Given the description of an element on the screen output the (x, y) to click on. 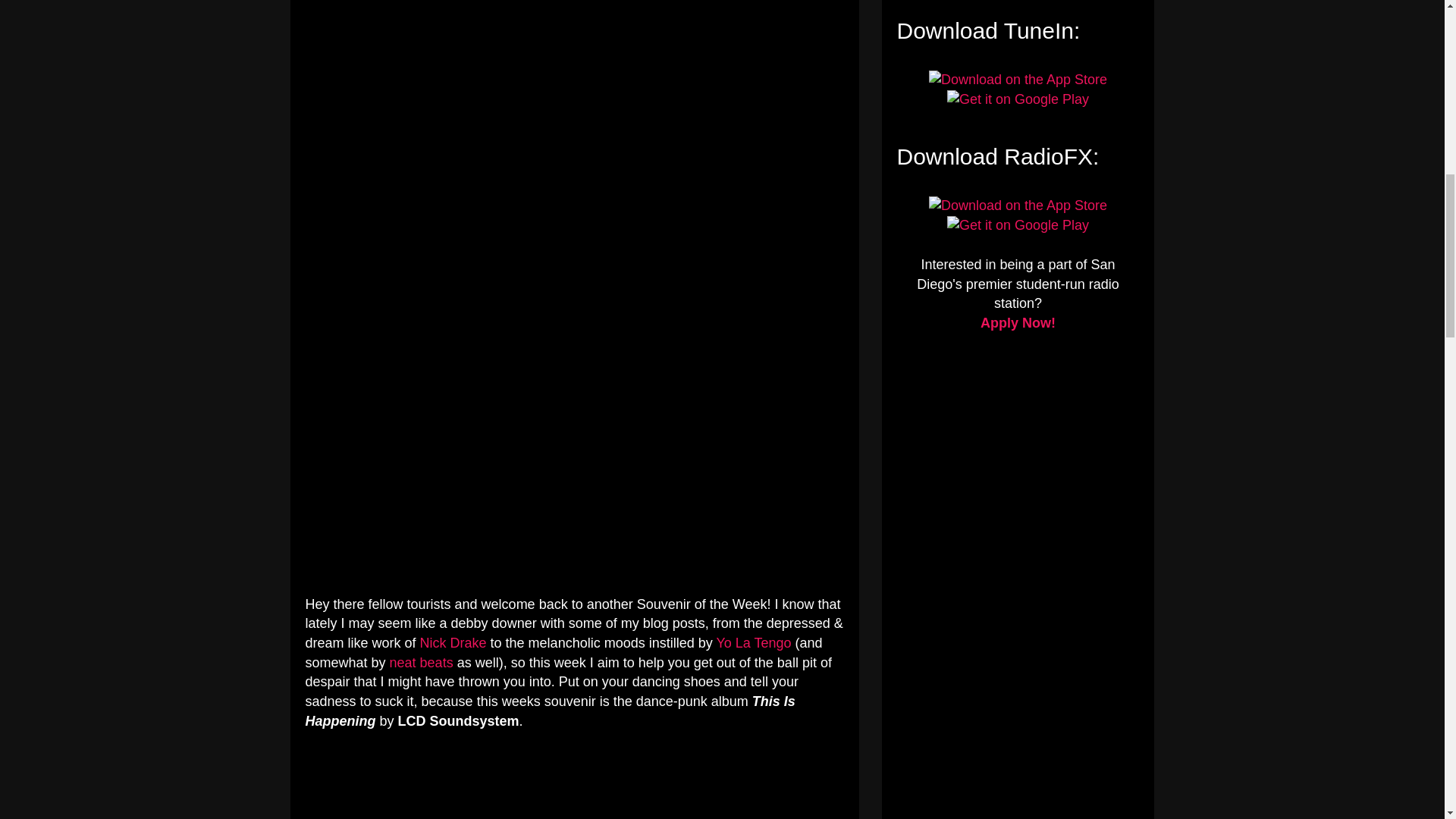
neat beats (421, 662)
Yo La Tengo (753, 642)
Nick Drake (453, 642)
